Given the description of an element on the screen output the (x, y) to click on. 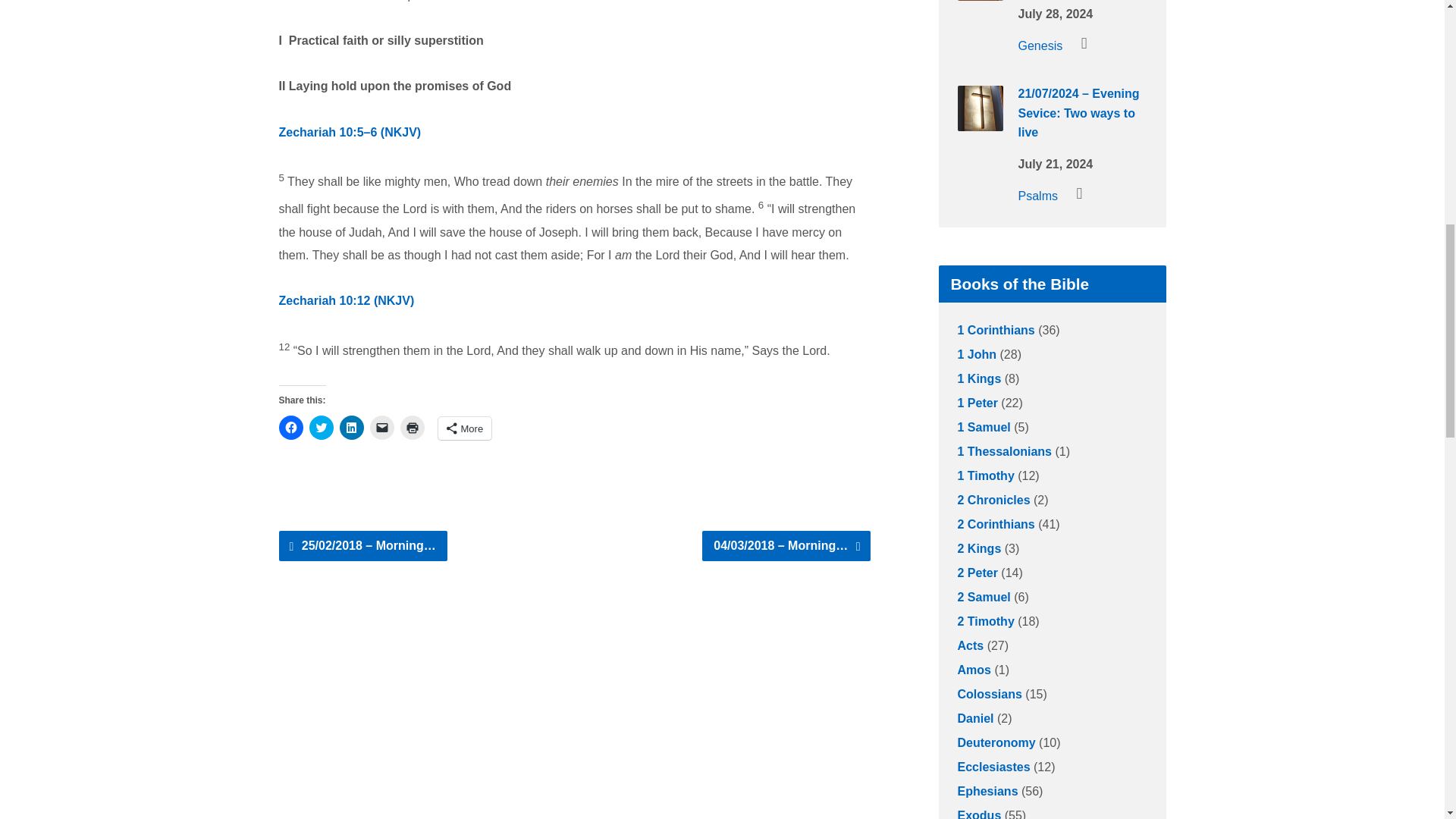
Click to email a link to a friend (381, 427)
Click to share on Twitter (320, 427)
Click to share on Facebook (290, 427)
Click to share on LinkedIn (351, 427)
